Given the description of an element on the screen output the (x, y) to click on. 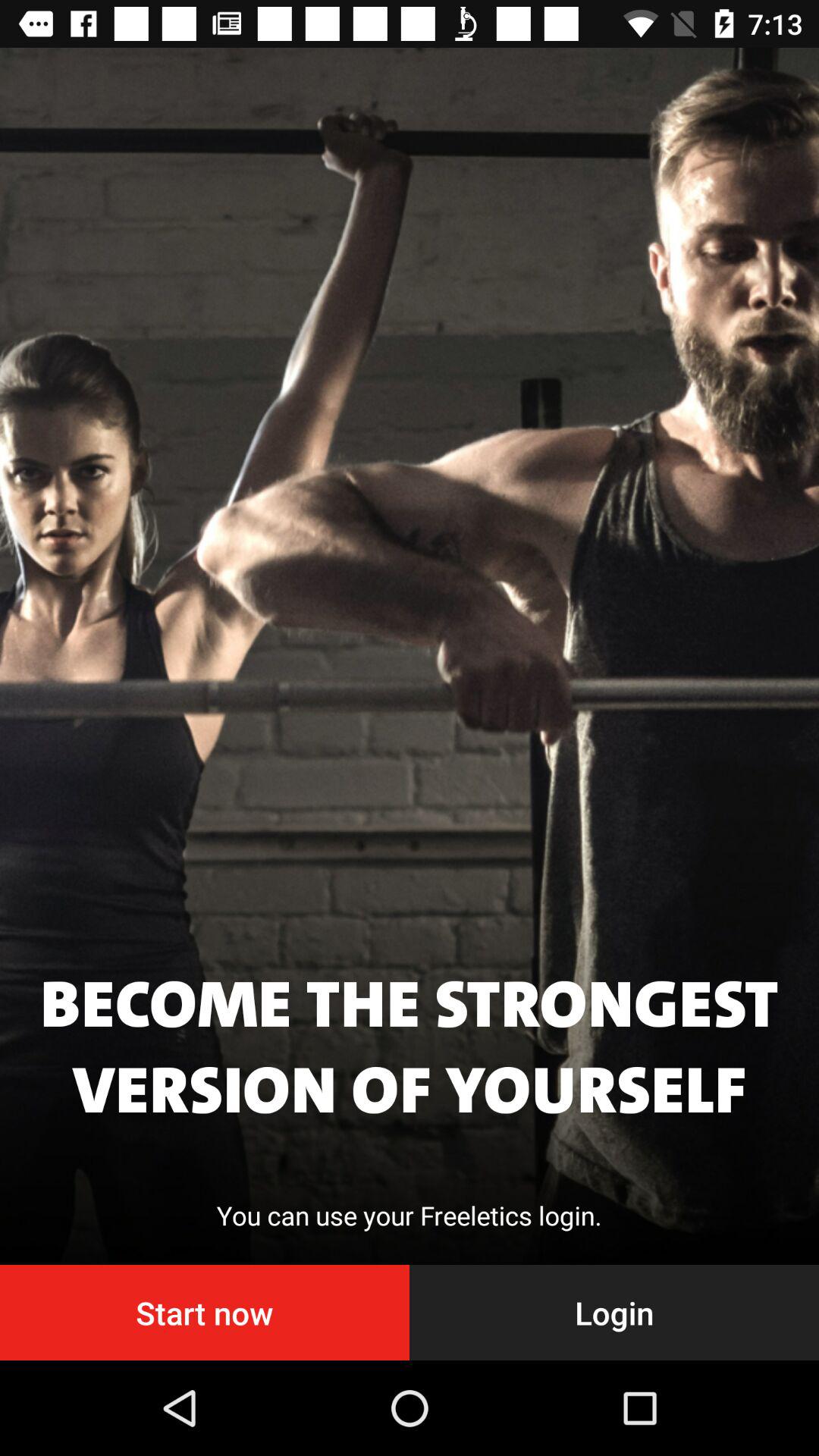
choose the item to the left of login icon (204, 1312)
